Given the description of an element on the screen output the (x, y) to click on. 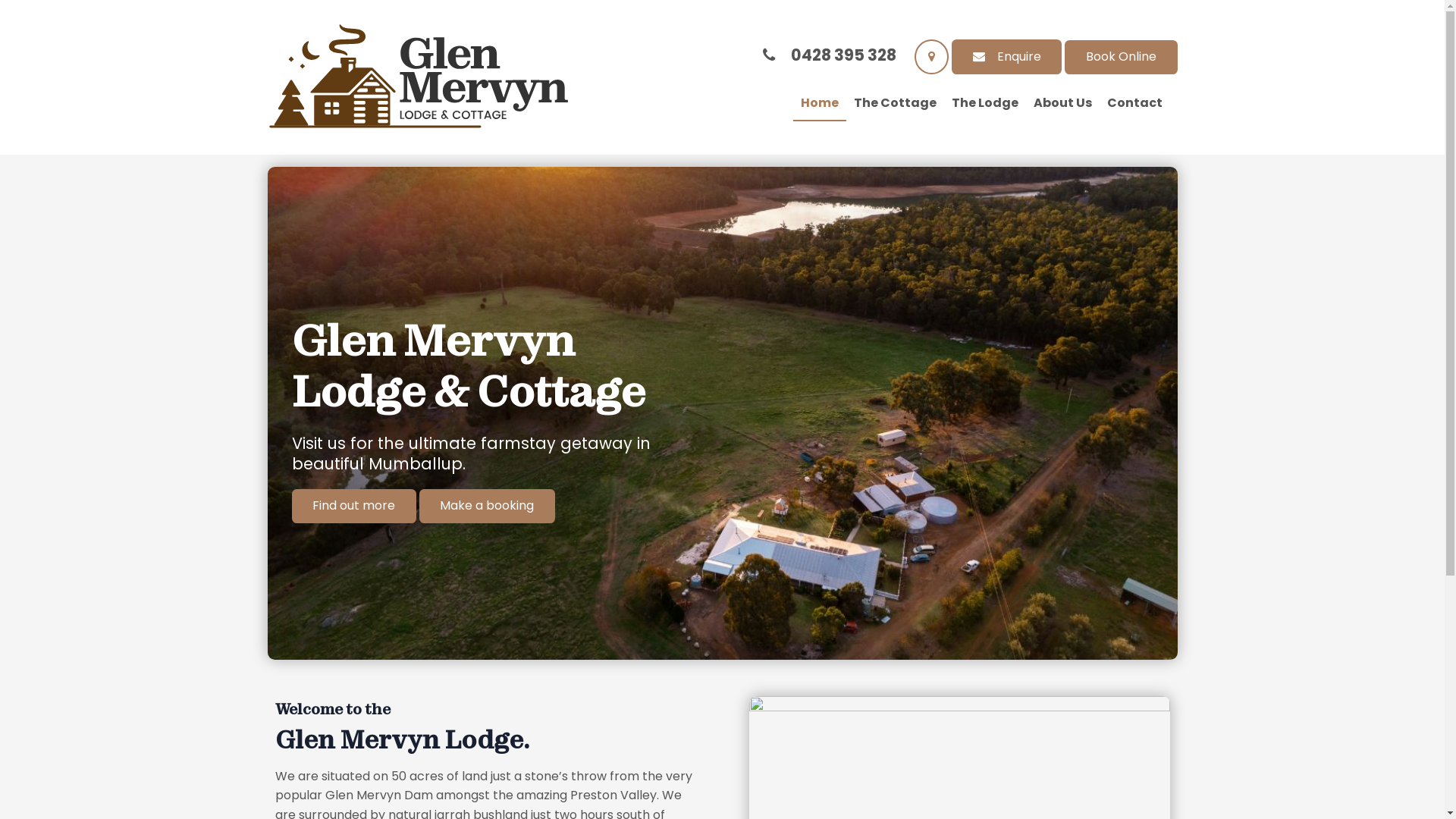
Home Element type: text (819, 103)
The Cottage Element type: text (895, 103)
Make a booking Element type: text (487, 506)
The Lodge Element type: text (984, 103)
About Us Element type: text (1061, 103)
Find out more Element type: text (353, 506)
Enquire Element type: text (1006, 57)
Contact Element type: text (1134, 103)
Book Online Element type: text (1120, 57)
